Given the description of an element on the screen output the (x, y) to click on. 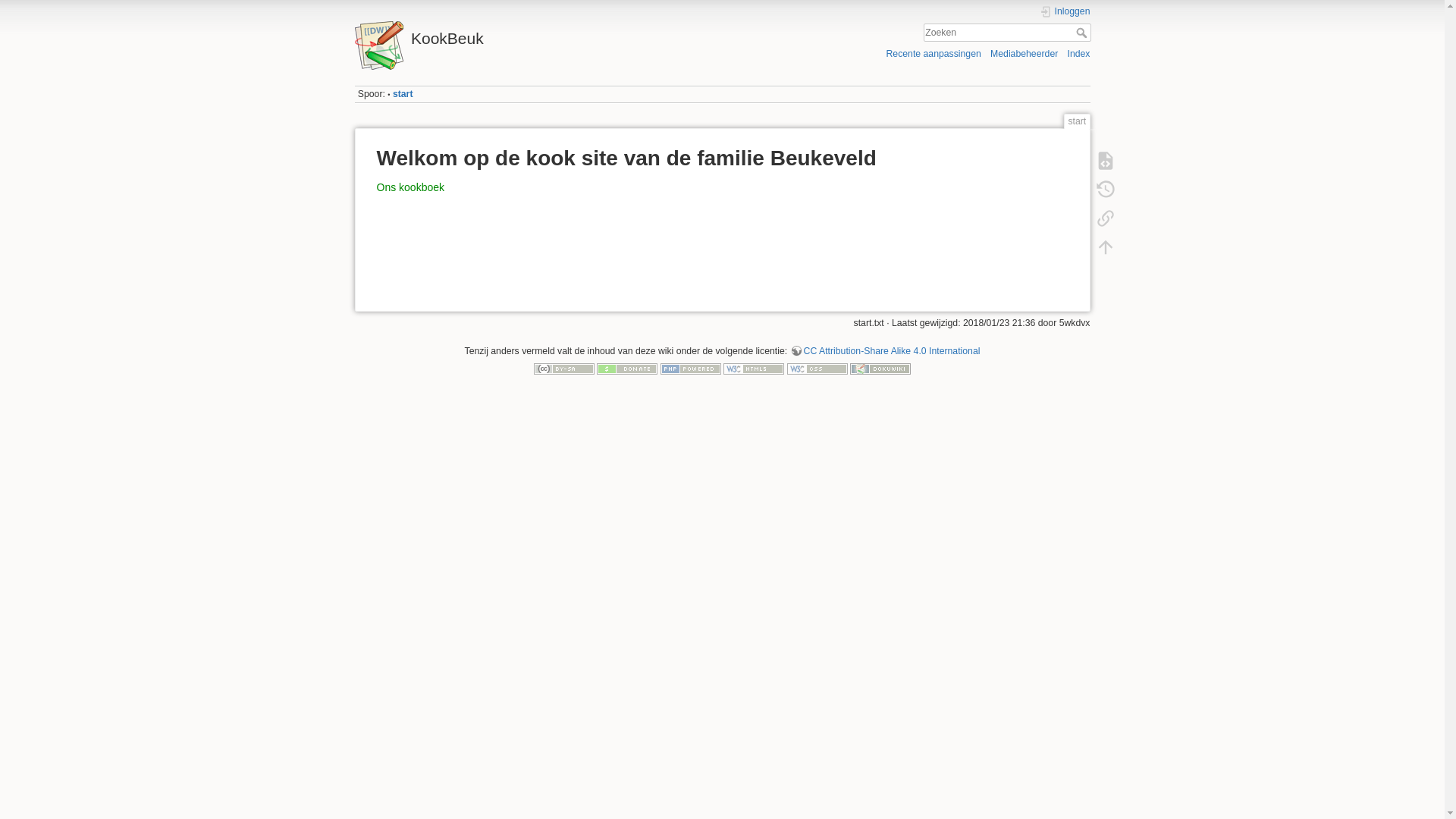
Recente aanpassingen Element type: text (932, 53)
Mediabeheerder Element type: text (1023, 53)
Toon bronpagina [v] Element type: hover (1104, 160)
Referenties Element type: hover (1104, 217)
Valid CSS Element type: hover (817, 368)
Zoeken Element type: text (1082, 32)
Valid HTML5 Element type: hover (753, 368)
Donate Element type: hover (626, 368)
[F] Element type: hover (1007, 32)
Inloggen Element type: text (1064, 11)
Index Element type: text (1078, 53)
Oude revisies [o] Element type: hover (1104, 189)
start Element type: text (402, 93)
KookBeuk Element type: text (534, 34)
Ons kookboek Element type: text (410, 187)
CC Attribution-Share Alike 4.0 International Element type: text (885, 350)
Terug naar boven [t] Element type: hover (1104, 246)
Driven by DokuWiki Element type: hover (880, 368)
Powered by PHP Element type: hover (690, 368)
